Given the description of an element on the screen output the (x, y) to click on. 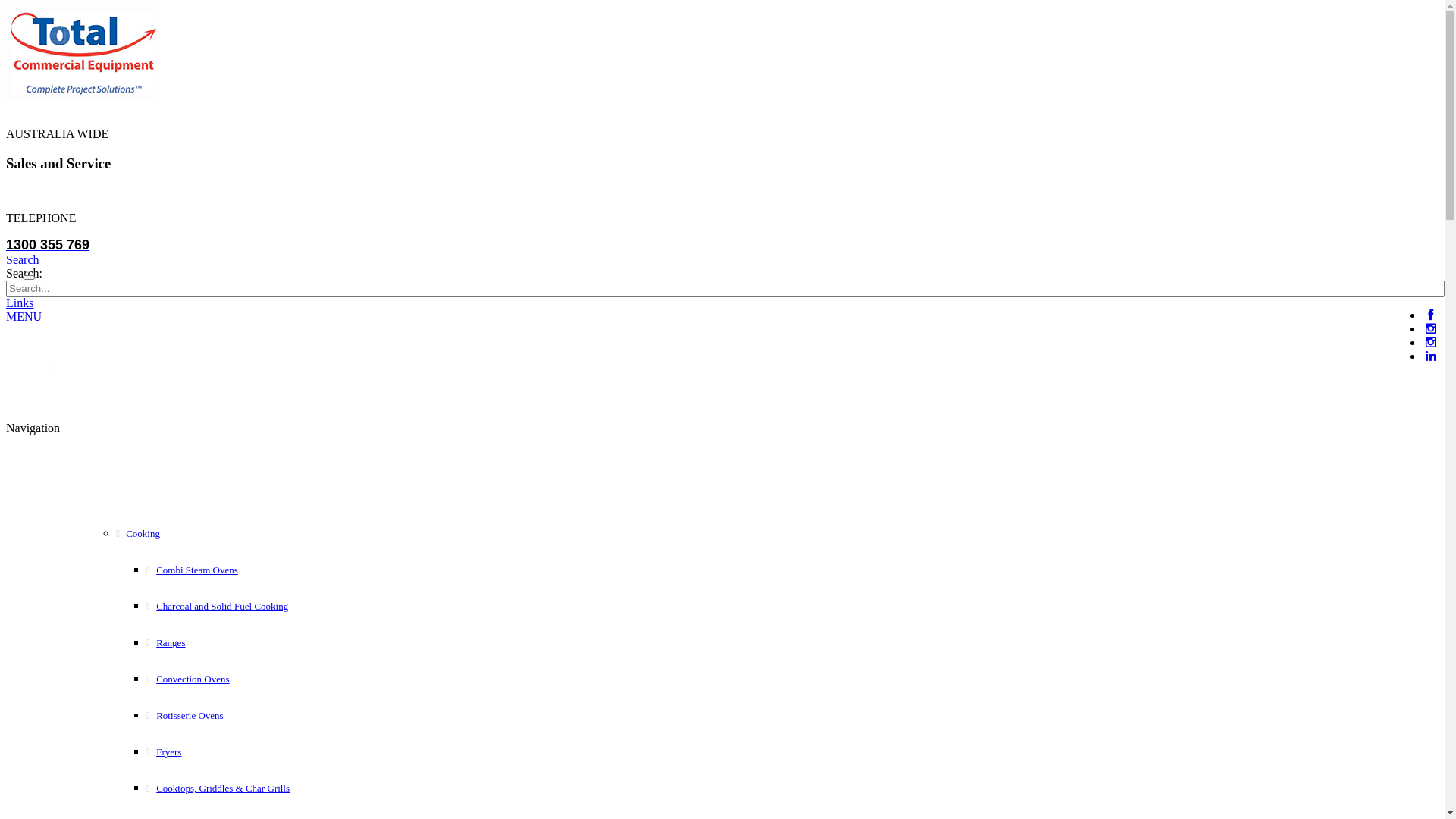
Instagram Laundry Element type: hover (1430, 341)
1300 355 769 Element type: text (47, 244)
Charcoal and Solid Fuel Cooking Element type: text (267, 606)
LAUNDRY Element type: text (184, 375)
SALE Element type: text (756, 375)
Home Element type: hover (48, 368)
CHEMICALS Element type: text (269, 375)
MAJOR PROJECTS Element type: text (557, 375)
Search Element type: hover (28, 277)
KITCHEN Element type: text (237, 481)
Rotisserie Ovens Element type: text (267, 715)
SECTORS Element type: text (459, 375)
Ranges Element type: text (267, 642)
KITCHEN Element type: text (107, 375)
Combi Steam Ovens Element type: text (267, 570)
Convection Ovens Element type: text (267, 679)
MENU Element type: text (23, 316)
Links Element type: text (19, 302)
Total Commercial Equipment Element type: hover (81, 93)
BRANDS Element type: text (813, 375)
USED EQUIPMENT Element type: text (368, 375)
Fryers Element type: text (267, 752)
SERVICE & PARTS Element type: text (676, 375)
Instagram TCE Element type: hover (1430, 328)
CONTACT US Element type: text (890, 375)
Search Element type: text (22, 259)
Cooktops, Griddles & Char Grills Element type: text (267, 788)
Cooking Element type: text (252, 533)
